Given the description of an element on the screen output the (x, y) to click on. 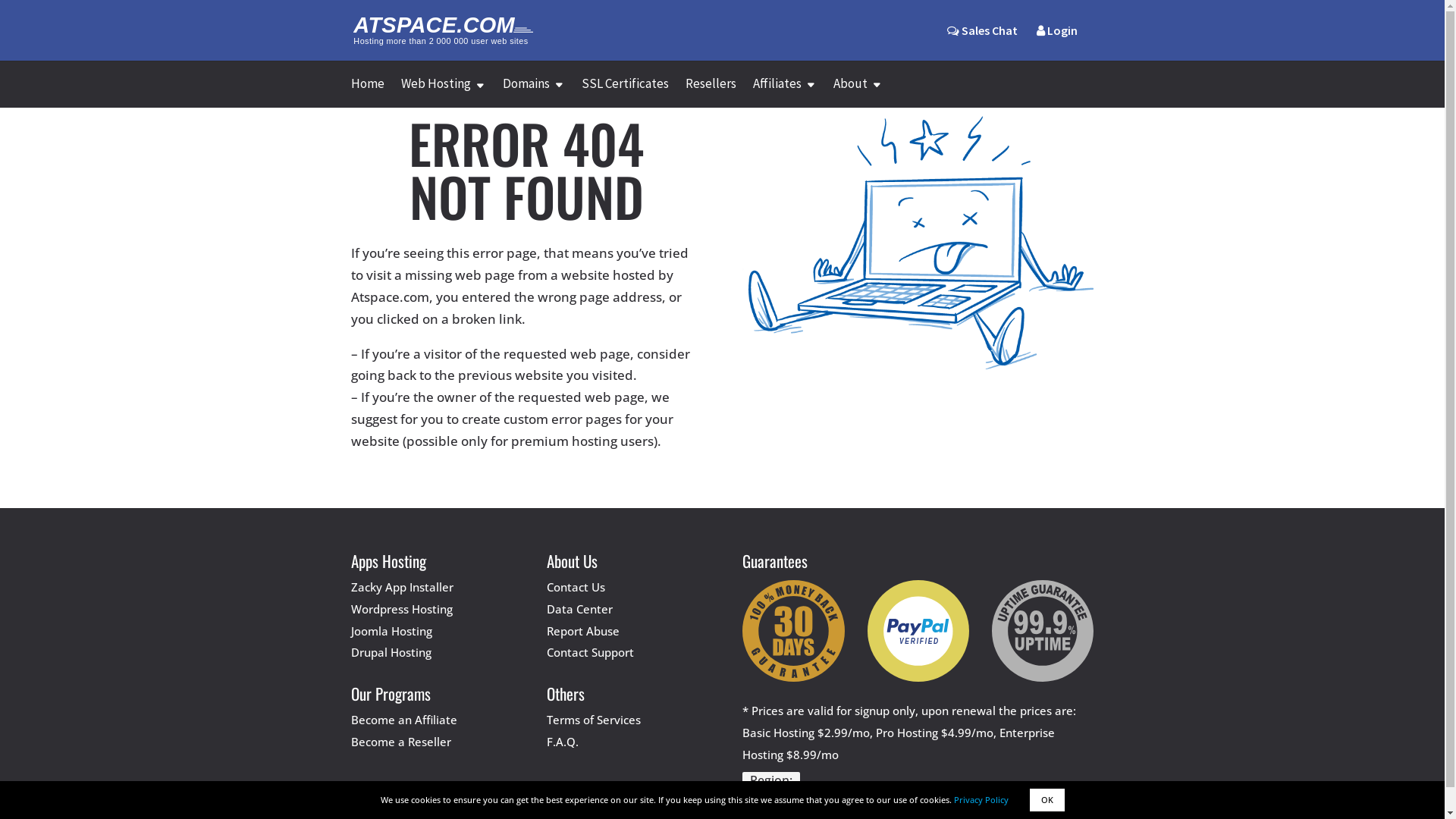
Login Element type: text (1055, 42)
Report Abuse Element type: text (582, 630)
SSL Certificates Element type: text (624, 92)
Domains Element type: text (533, 92)
Sales Chat Element type: text (981, 42)
About Element type: text (856, 92)
Privacy Policy Element type: text (980, 799)
Resellers Element type: text (710, 92)
Sales Chat Element type: text (981, 29)
Drupal Hosting Element type: text (390, 651)
Wordpress Hosting Element type: text (400, 608)
Contact Us Element type: text (575, 586)
Joomla Hosting Element type: text (390, 630)
Affiliates Element type: text (783, 92)
OK Element type: text (1046, 799)
Data Center Element type: text (579, 608)
Zacky App Installer Element type: text (401, 586)
Contact Support Element type: text (589, 651)
Terms of Services Element type: text (593, 719)
Become a Reseller Element type: text (400, 741)
Become an Affiliate Element type: text (403, 719)
F.A.Q. Element type: text (562, 741)
Home Element type: text (366, 92)
Web Hosting Element type: text (442, 92)
